Given the description of an element on the screen output the (x, y) to click on. 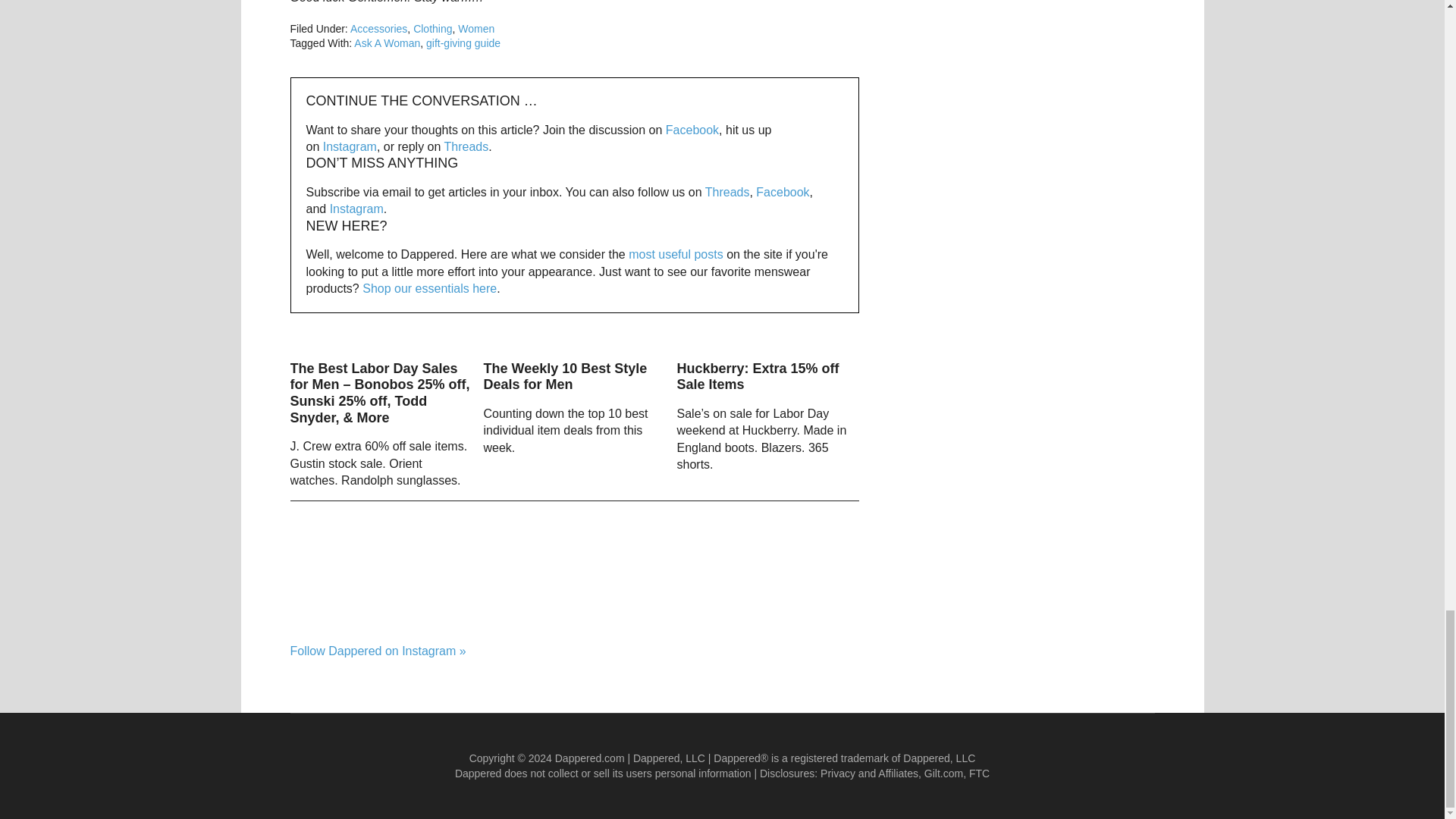
Women (476, 28)
Clothing (432, 28)
gift-giving guide (463, 42)
Ask A Woman (386, 42)
Privacy and Affiliate Disclosure (869, 773)
Gilt Disclosure (943, 773)
Dappered FTC Disclosures (979, 773)
Accessories (378, 28)
